Given the description of an element on the screen output the (x, y) to click on. 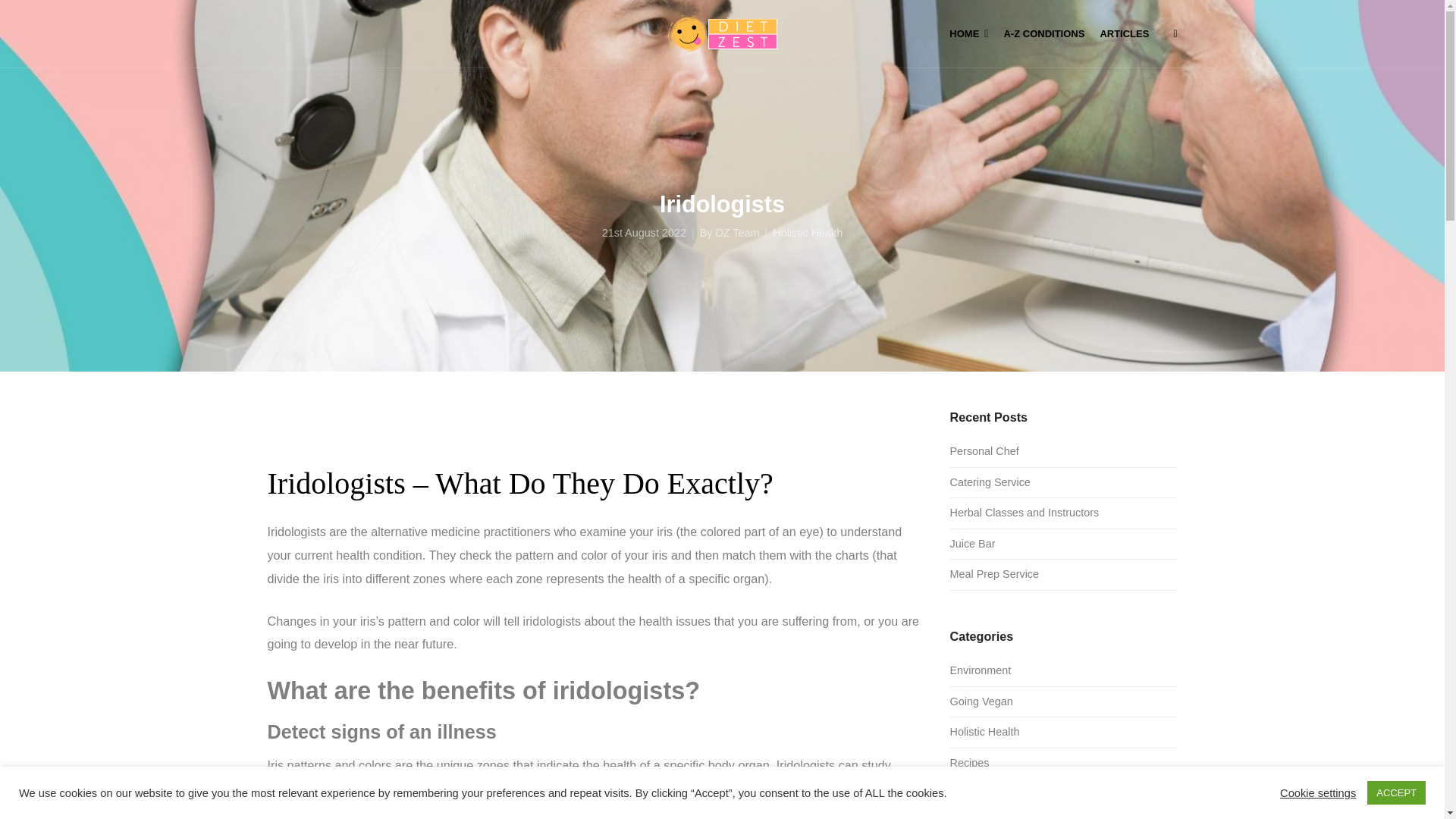
clinical symptoms (835, 788)
ARTICLES (1124, 33)
View all posts in Holistic Health (808, 232)
DZ Team (736, 232)
Holistic Health (808, 232)
A-Z CONDITIONS (1043, 33)
